Given the description of an element on the screen output the (x, y) to click on. 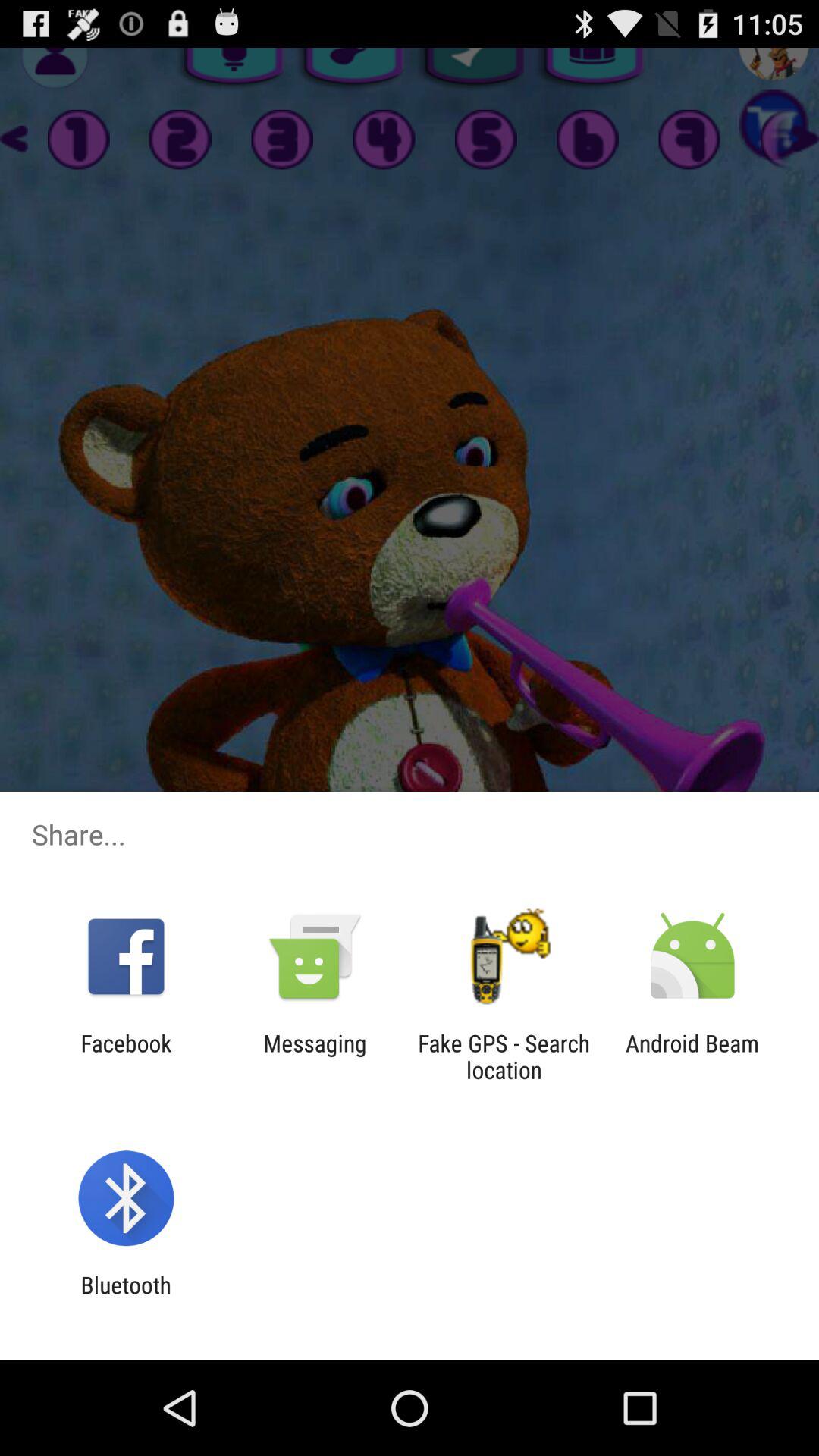
scroll until fake gps search (503, 1056)
